Given the description of an element on the screen output the (x, y) to click on. 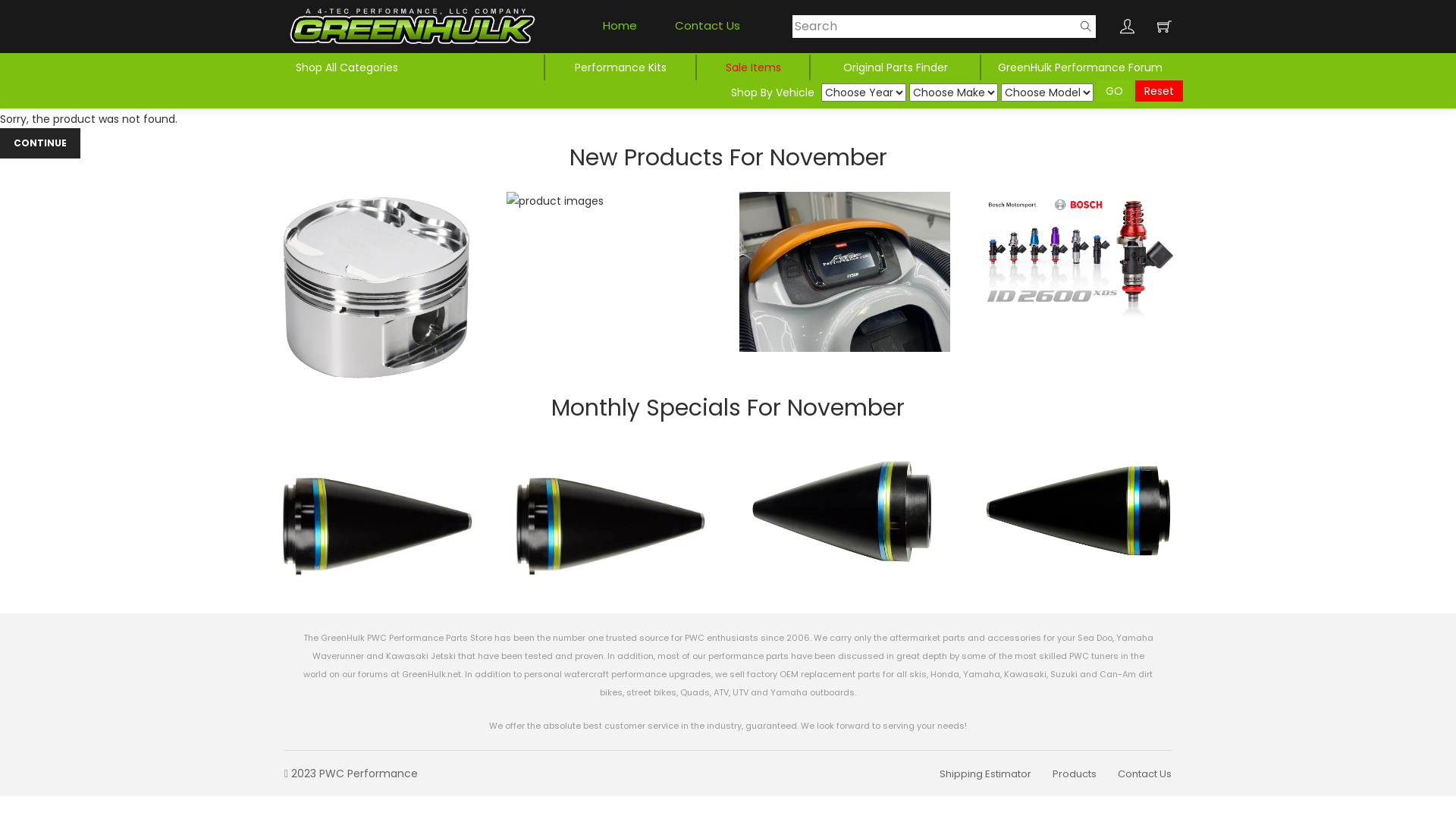
Sale Items Element type: text (752, 67)
Performance Kits Element type: text (619, 67)
Reset Element type: text (1159, 90)
Uno Element type: hover (412, 26)
Contact Us Element type: text (1144, 773)
Shop All Categories Element type: text (348, 67)
Contact Us Element type: text (707, 26)
GO Element type: text (1114, 90)
Shipping Estimator Element type: text (985, 773)
Products Element type: text (1074, 773)
Home Element type: text (619, 26)
